Given the description of an element on the screen output the (x, y) to click on. 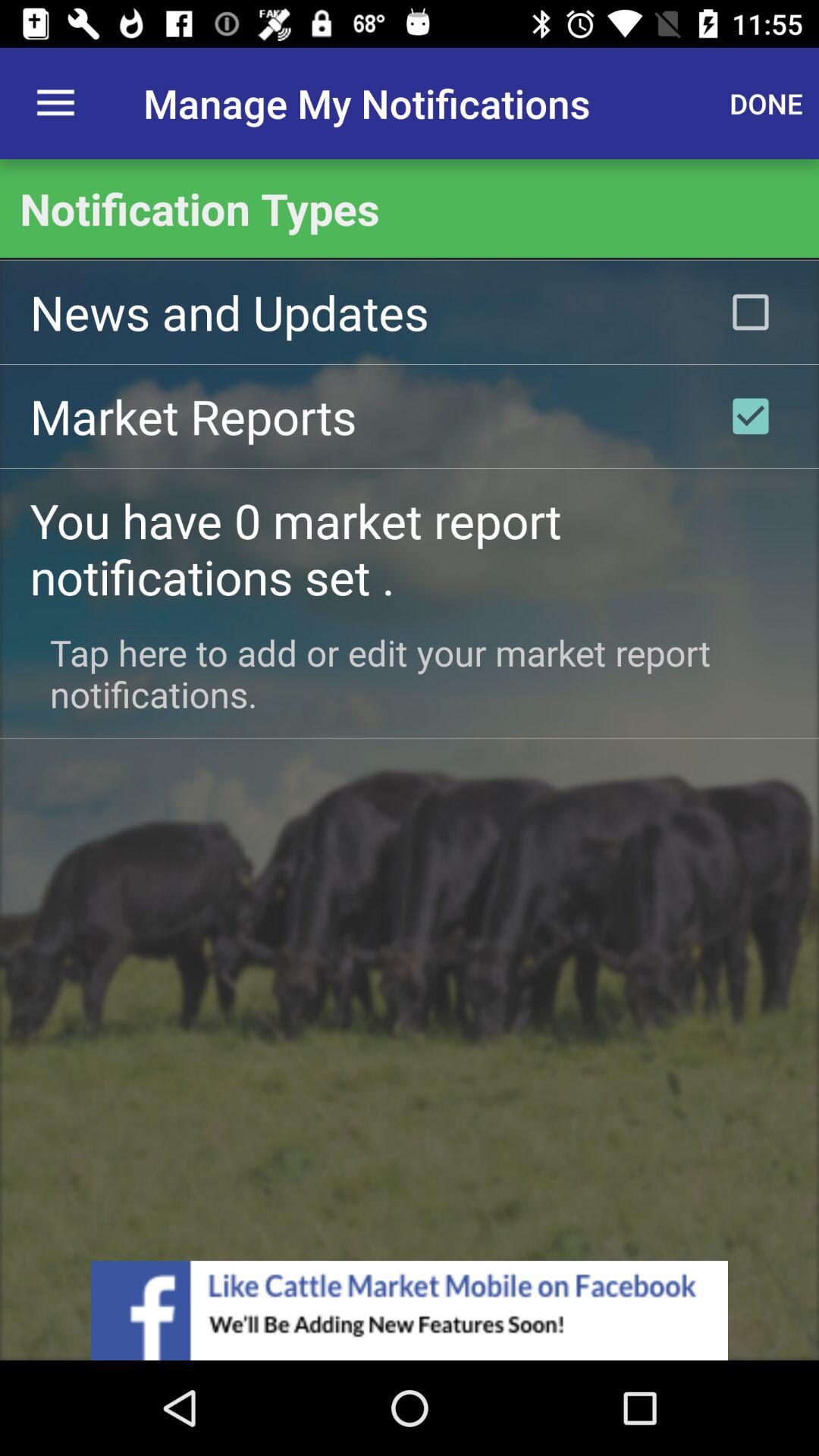
select and remove market report data notification (750, 416)
